Given the description of an element on the screen output the (x, y) to click on. 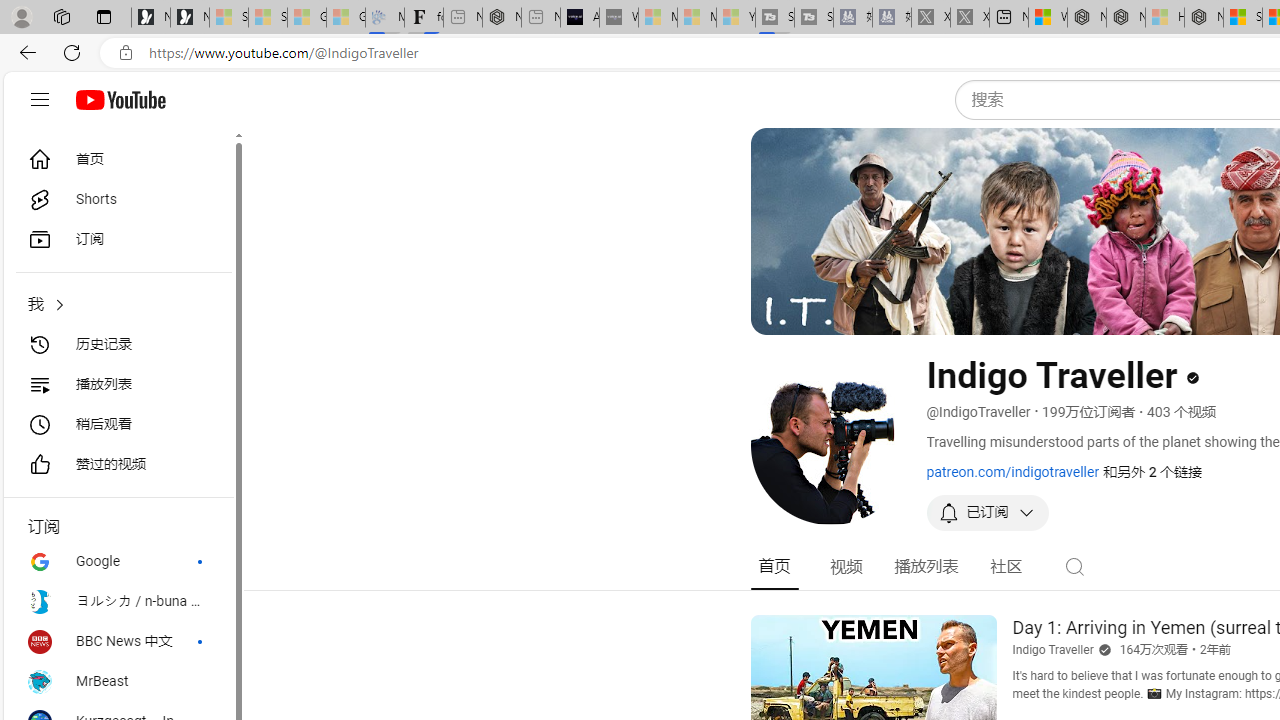
AI Voice Changer for PC and Mac - Voice.ai (579, 17)
Shorts (117, 200)
Indigo Traveller (1053, 649)
